Given the description of an element on the screen output the (x, y) to click on. 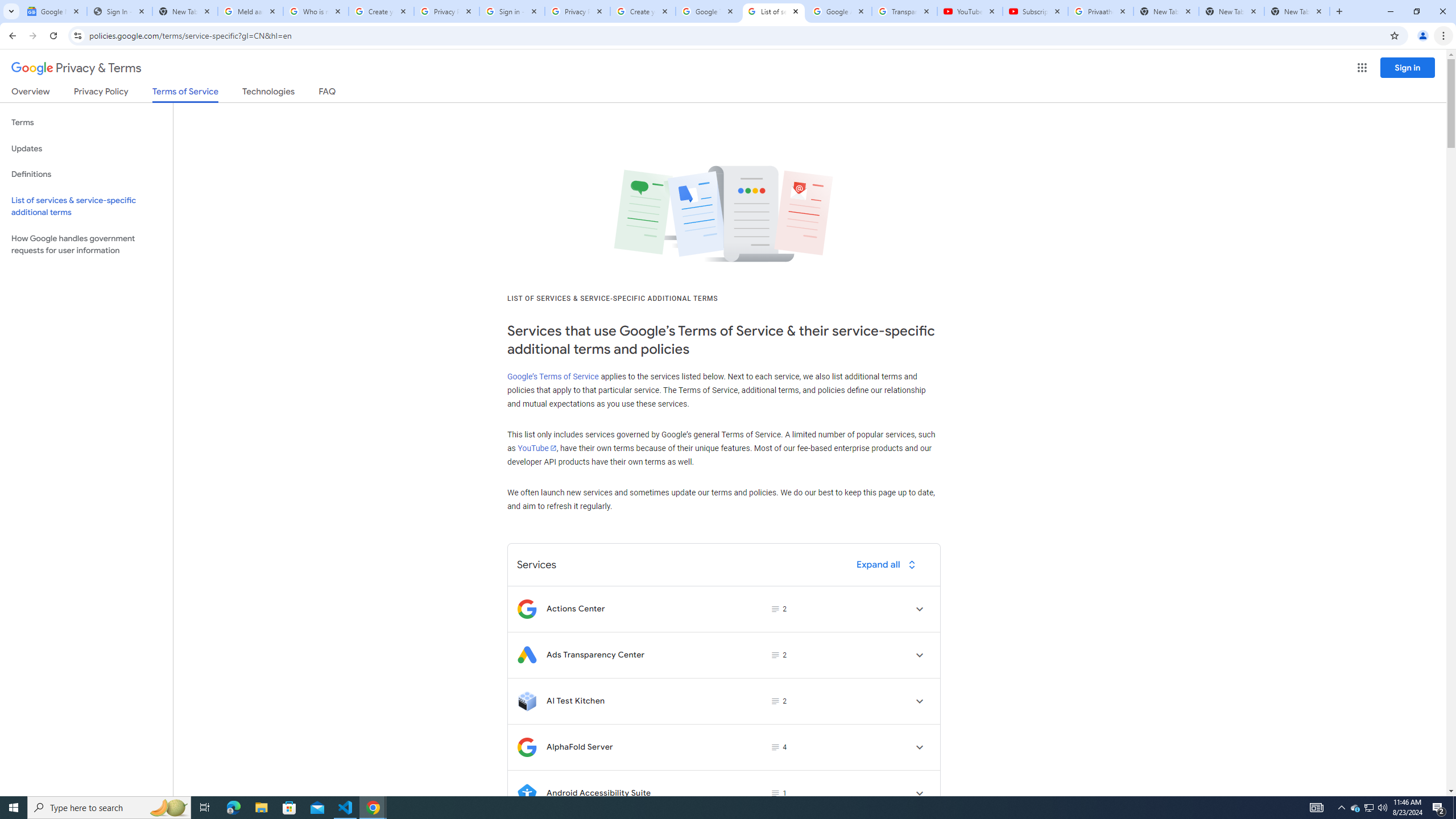
Logo for Ads Transparency Center (526, 654)
Logo for Android Accessibility Suite (526, 792)
Google News (53, 11)
New Tab (1297, 11)
Create your Google Account (381, 11)
